Given the description of an element on the screen output the (x, y) to click on. 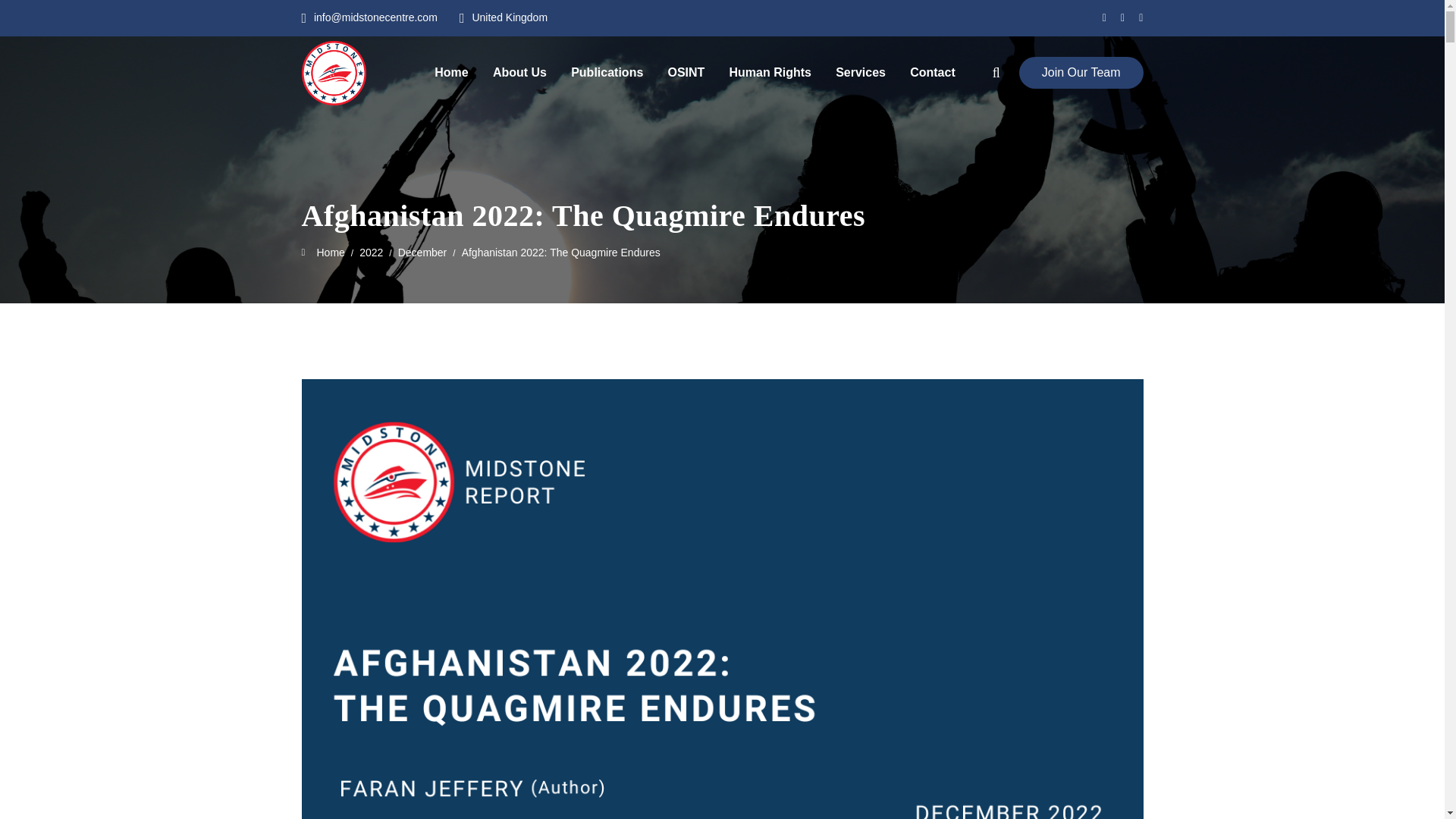
About Us (520, 72)
OSINT (685, 72)
2022 (370, 252)
Services (860, 72)
Contact (932, 72)
Join Our Team (1080, 72)
Home (325, 252)
Home (450, 72)
Publications (606, 72)
December (421, 252)
Human Rights (769, 72)
